Given the description of an element on the screen output the (x, y) to click on. 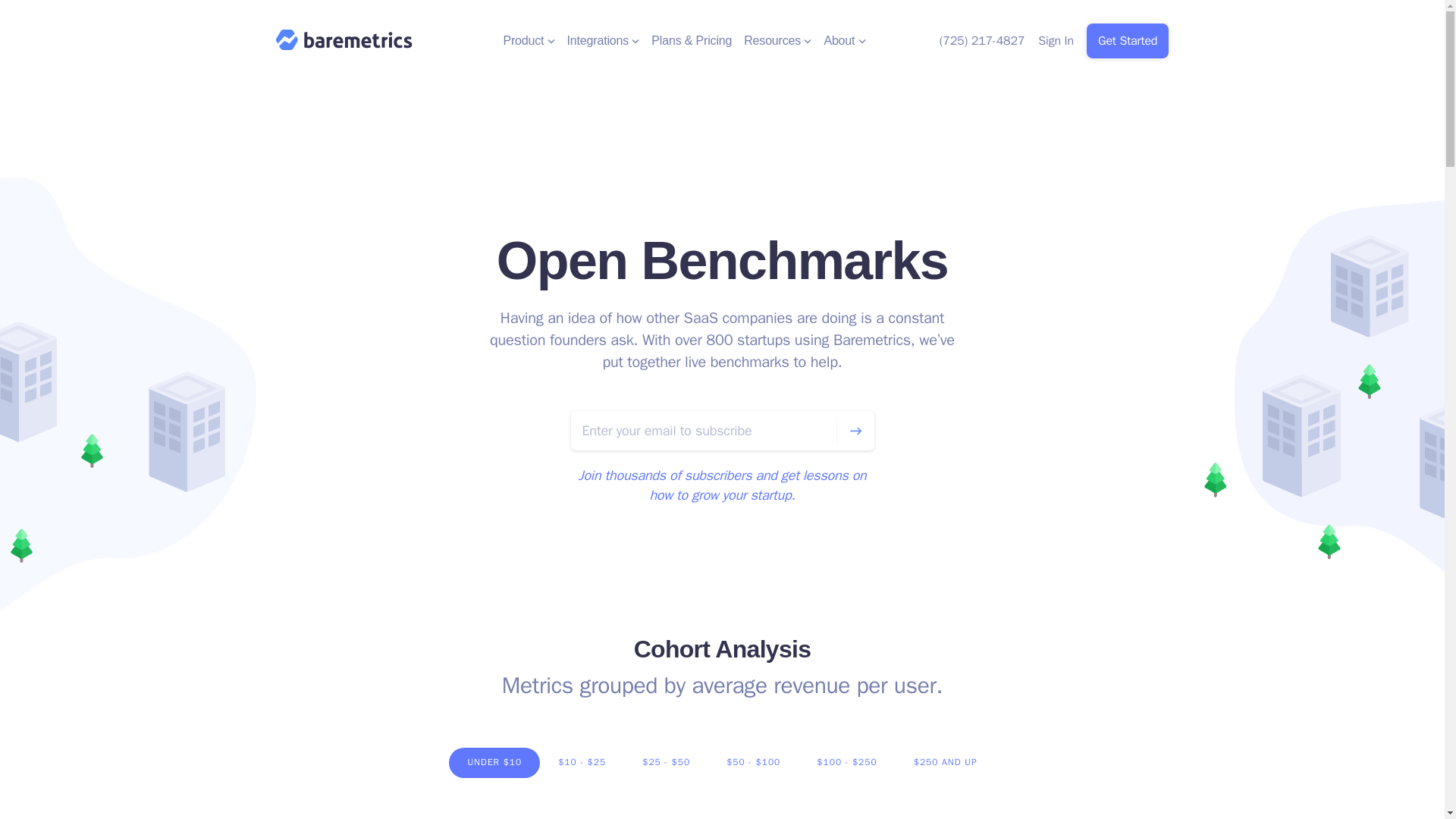
Baremetrics front page logo (344, 39)
